Given the description of an element on the screen output the (x, y) to click on. 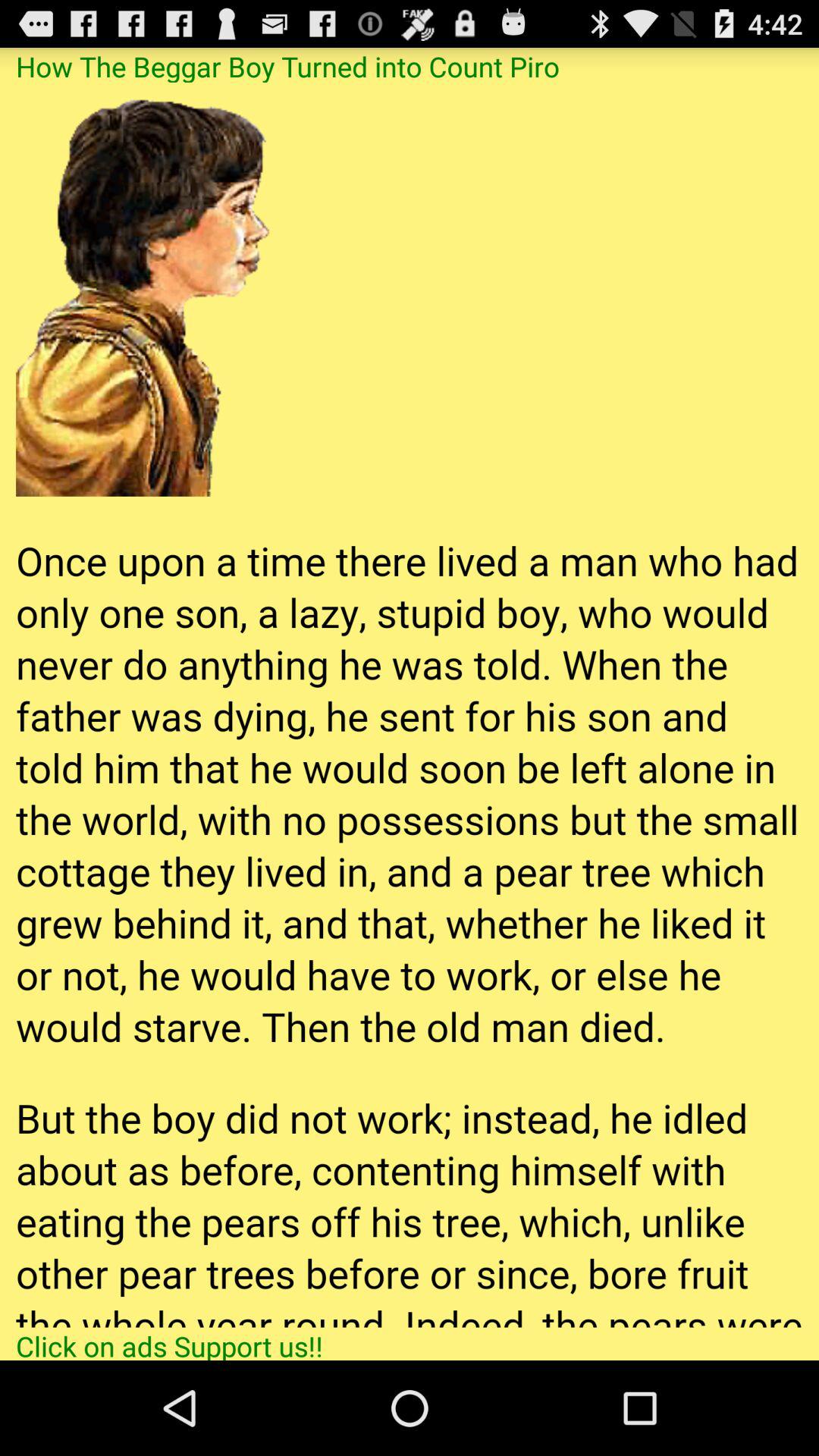
click app below the how the beggar app (409, 704)
